Given the description of an element on the screen output the (x, y) to click on. 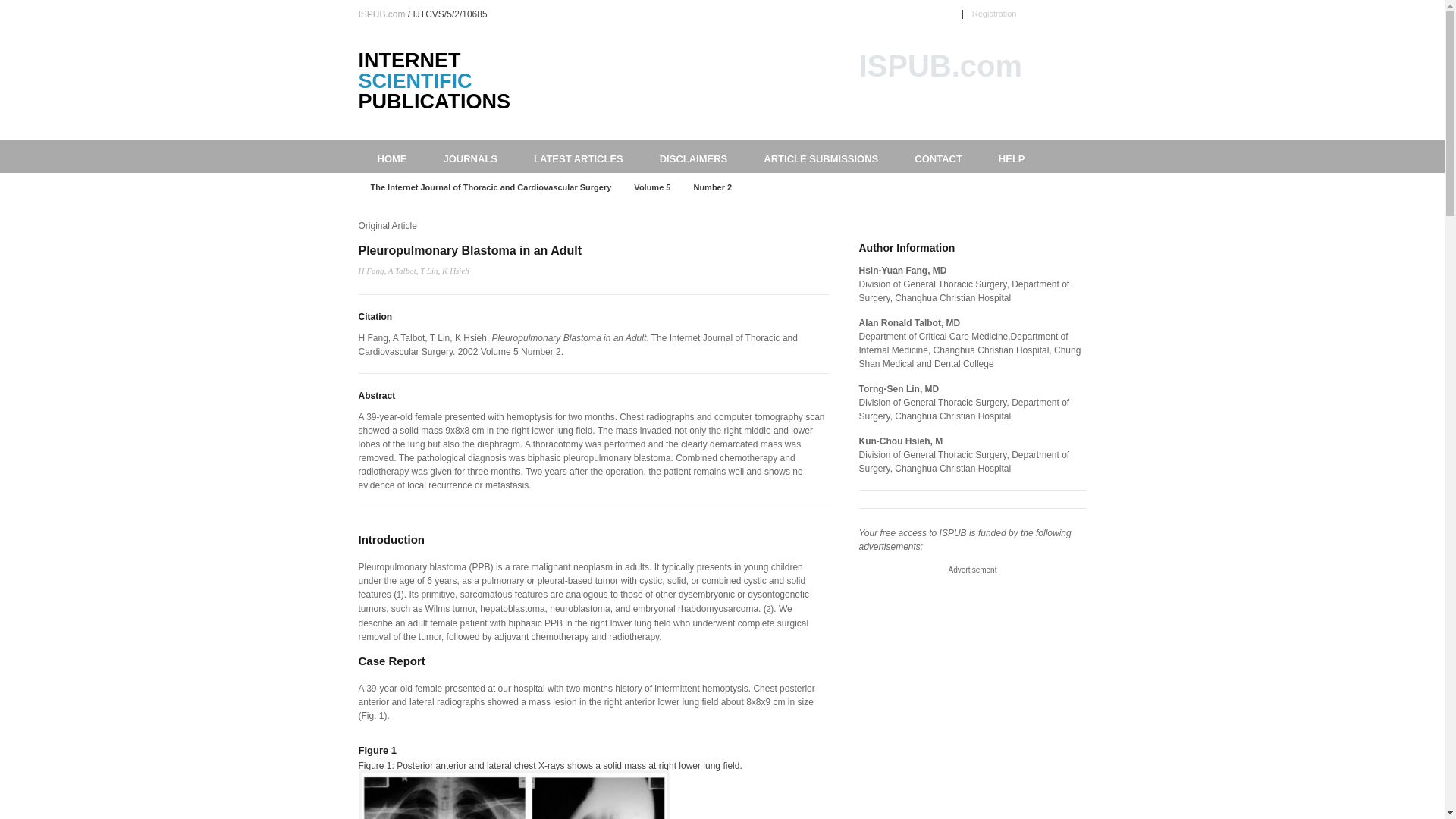
The Internet Journal of Thoracic and Cardiovascular Surgery (490, 187)
Pleuropulmonary Blastoma in an Adult (469, 250)
Google Plus (1080, 13)
Search (1074, 107)
Volume 5 (652, 187)
HOME (391, 156)
Search (1074, 107)
LATEST ARTICLES (578, 156)
HELP (1011, 156)
CONTACT (937, 156)
Facebook (1062, 13)
Advertisement (973, 569)
Registration (994, 13)
Number 2 (712, 187)
ISPUB.com (381, 14)
